Given the description of an element on the screen output the (x, y) to click on. 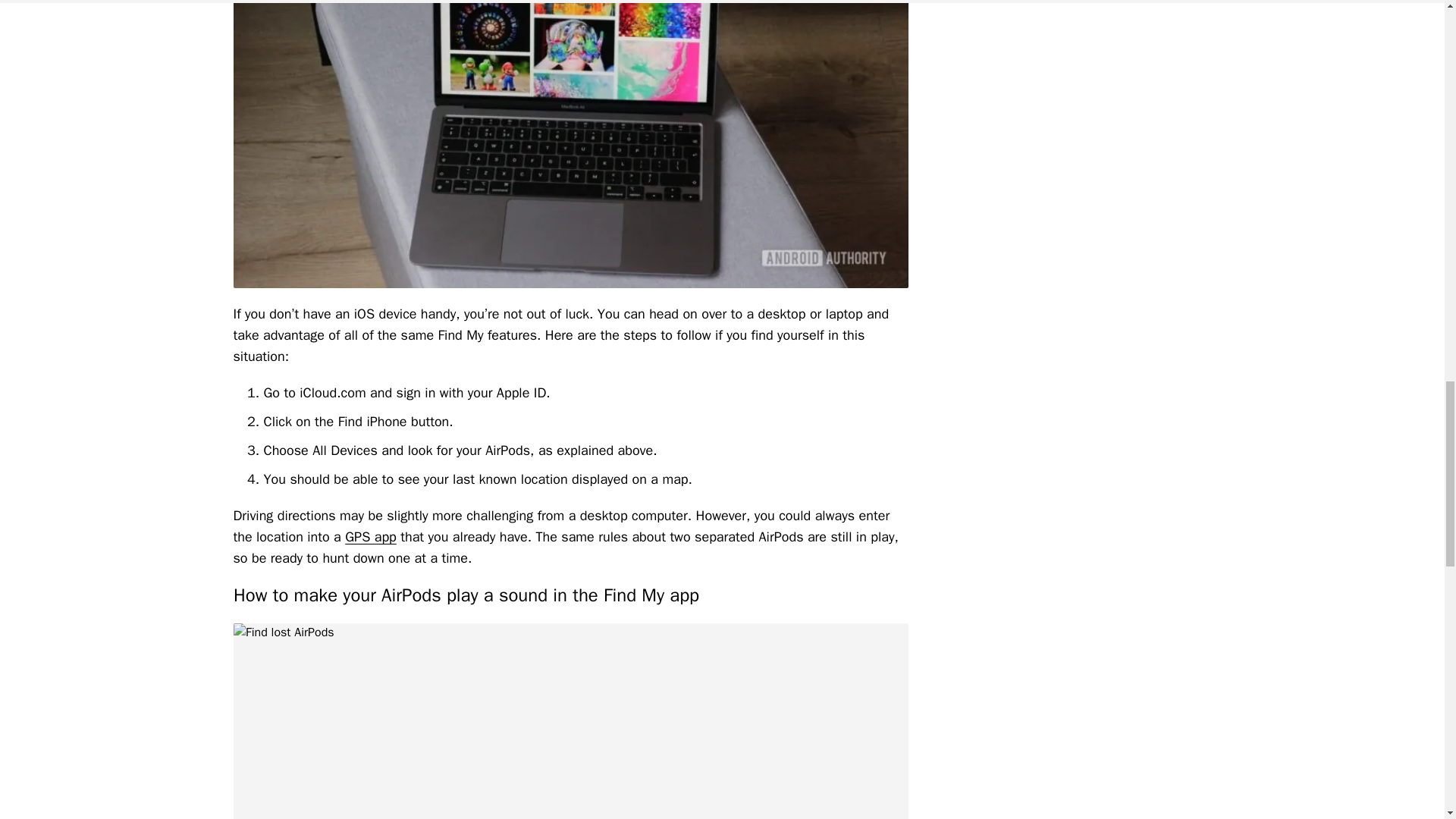
Airpods-2-6 (570, 721)
GPS app (370, 536)
